Given the description of an element on the screen output the (x, y) to click on. 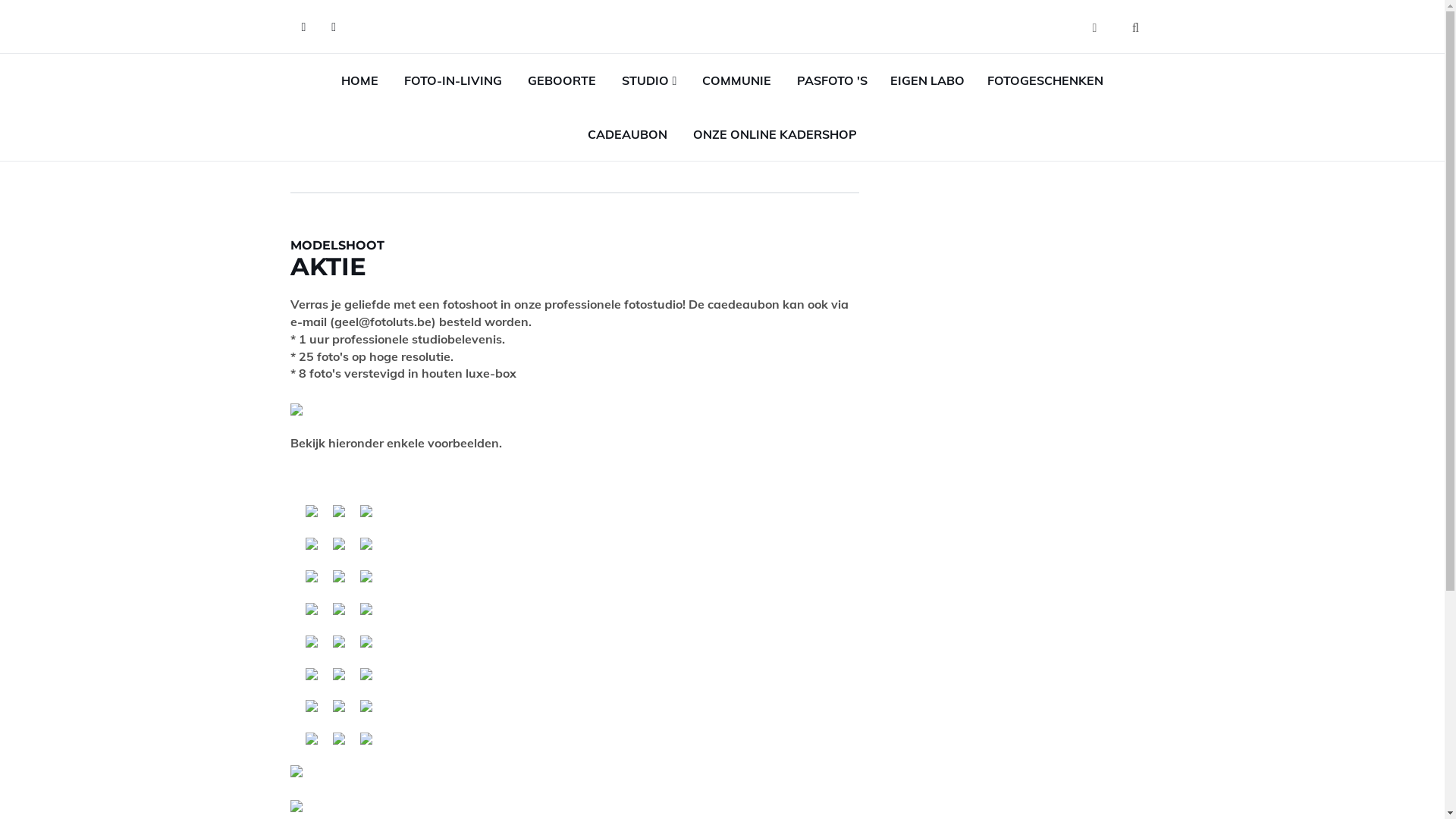
STUDIO Element type: text (649, 80)
FOTO-IN-LIVING Element type: text (452, 79)
HOME Element type: text (359, 79)
GEBOORTE Element type: text (561, 79)
CADEAUBON Element type: text (627, 133)
PASFOTO 'S Element type: text (831, 79)
ONZE ONLINE KADERSHOP Element type: text (774, 133)
EIGEN LABO Element type: text (926, 79)
COMMUNIE Element type: text (736, 79)
FOTOGESCHENKEN Element type: text (1044, 79)
